Given the description of an element on the screen output the (x, y) to click on. 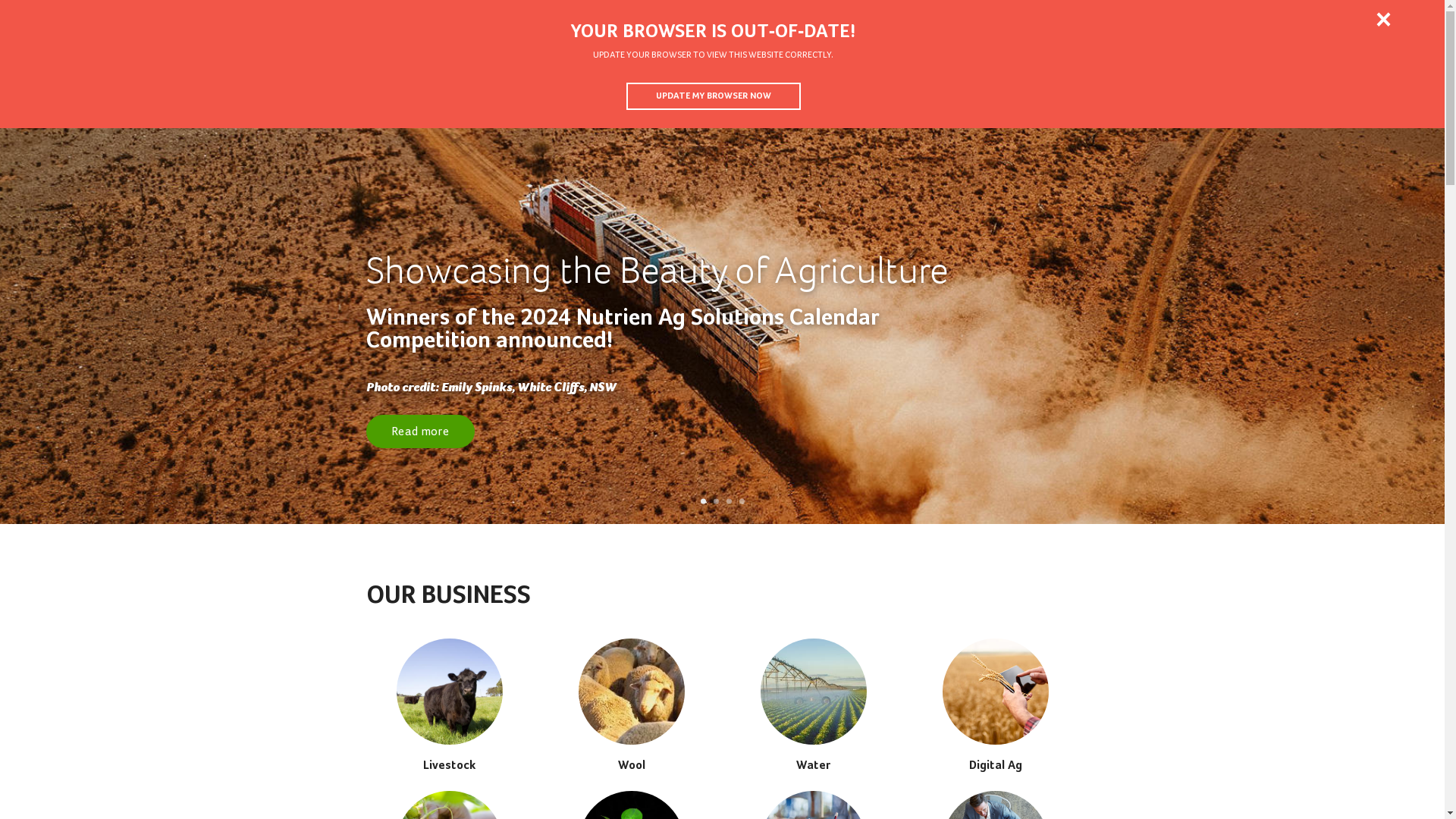
1 Element type: text (703, 501)
2 Element type: text (715, 501)
Our Range Element type: text (1082, 75)
UPDATE MY BROWSER NOW Element type: text (713, 95)
Real Estate Element type: text (1324, 75)
Login to Digital Hub Element type: text (81, 18)
4 Element type: text (740, 501)
Wool Element type: text (630, 704)
Water Element type: text (918, 75)
Finance Element type: text (1251, 75)
Insurance Element type: text (1170, 75)
Clearing Sale Element type: text (1398, 75)
Livestock Element type: text (448, 704)
Digital Ag Element type: text (994, 704)
Digital Ag Element type: text (995, 75)
About Us Element type: text (1104, 18)
Careers Element type: text (1184, 18)
Login to MyNutrien Element type: text (226, 18)
Water Element type: text (812, 704)
3 Element type: text (728, 501)
Livestock Element type: text (777, 75)
Read now Element type: text (721, 368)
Wool Element type: text (852, 75)
Find a branch Element type: text (1359, 18)
